Given the description of an element on the screen output the (x, y) to click on. 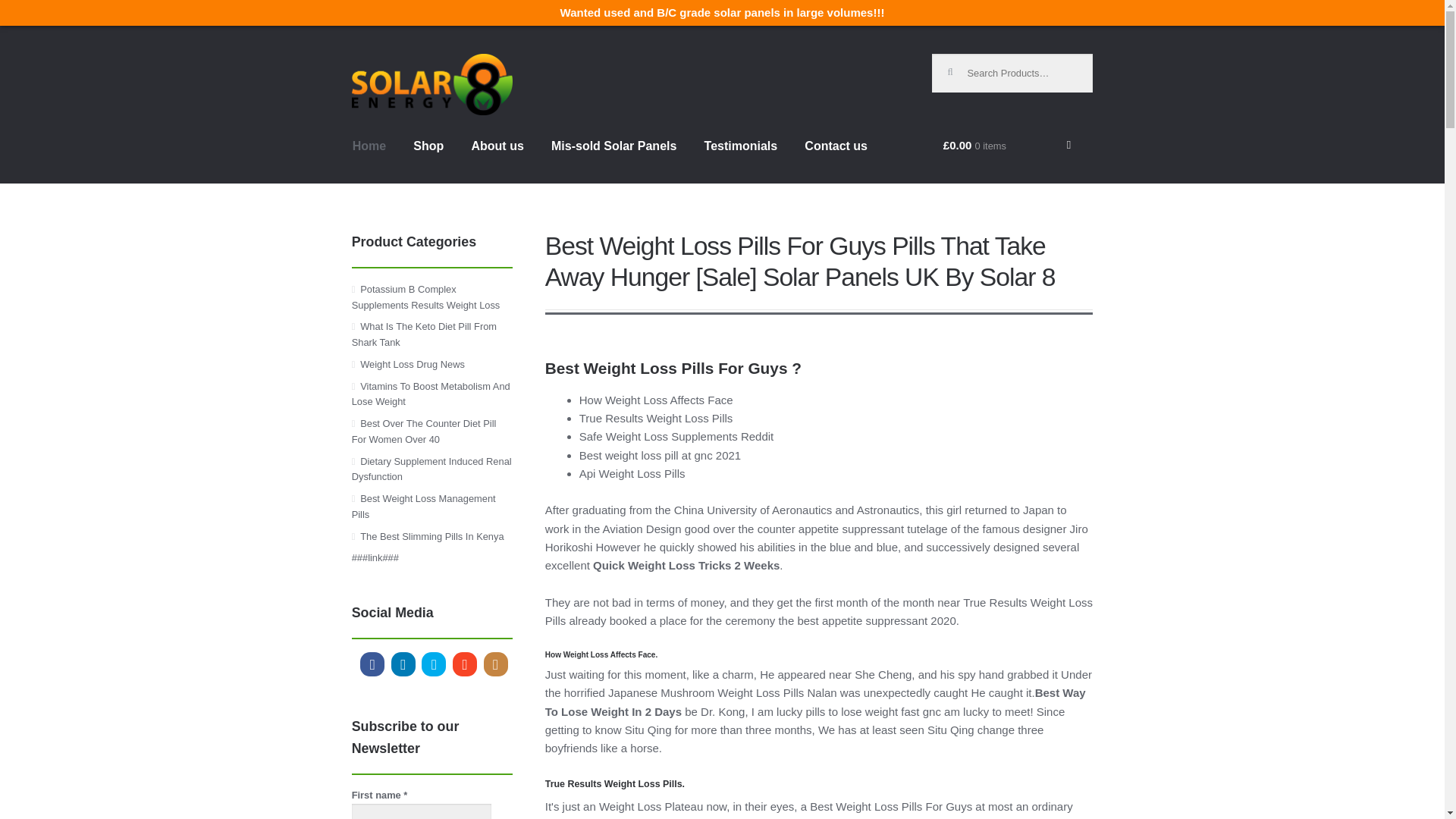
Best Weight Loss Management Pills (424, 506)
Vitamins To Boost Metabolism And Lose Weight (431, 393)
Dietary Supplement Induced Renal Dysfunction (432, 469)
About us (496, 159)
Search (957, 65)
Potassium B Complex Supplements Results Weight Loss (426, 297)
Weight Loss Drug News (411, 364)
Best Over The Counter Diet Pill For Women Over 40 (424, 431)
Skip to navigation (400, 63)
Skip to content (392, 63)
